Given the description of an element on the screen output the (x, y) to click on. 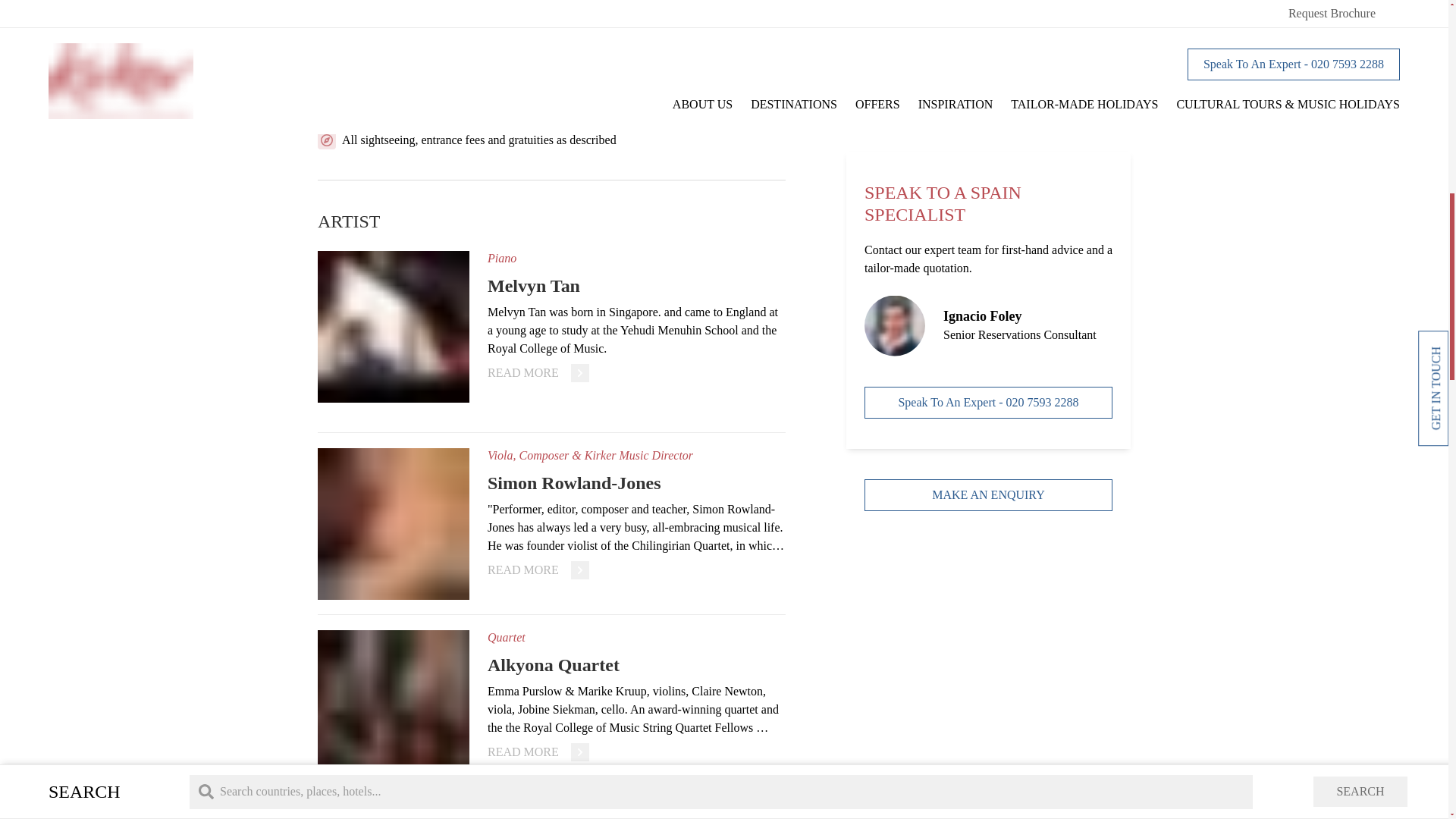
READ MORE (538, 372)
MAKE AN ENQUIRY (988, 86)
READ MORE (538, 751)
Speak To An Expert - 020 7593 2288 (988, 4)
READ MORE (538, 570)
MAKE AN ENQUIRY (988, 86)
